Given the description of an element on the screen output the (x, y) to click on. 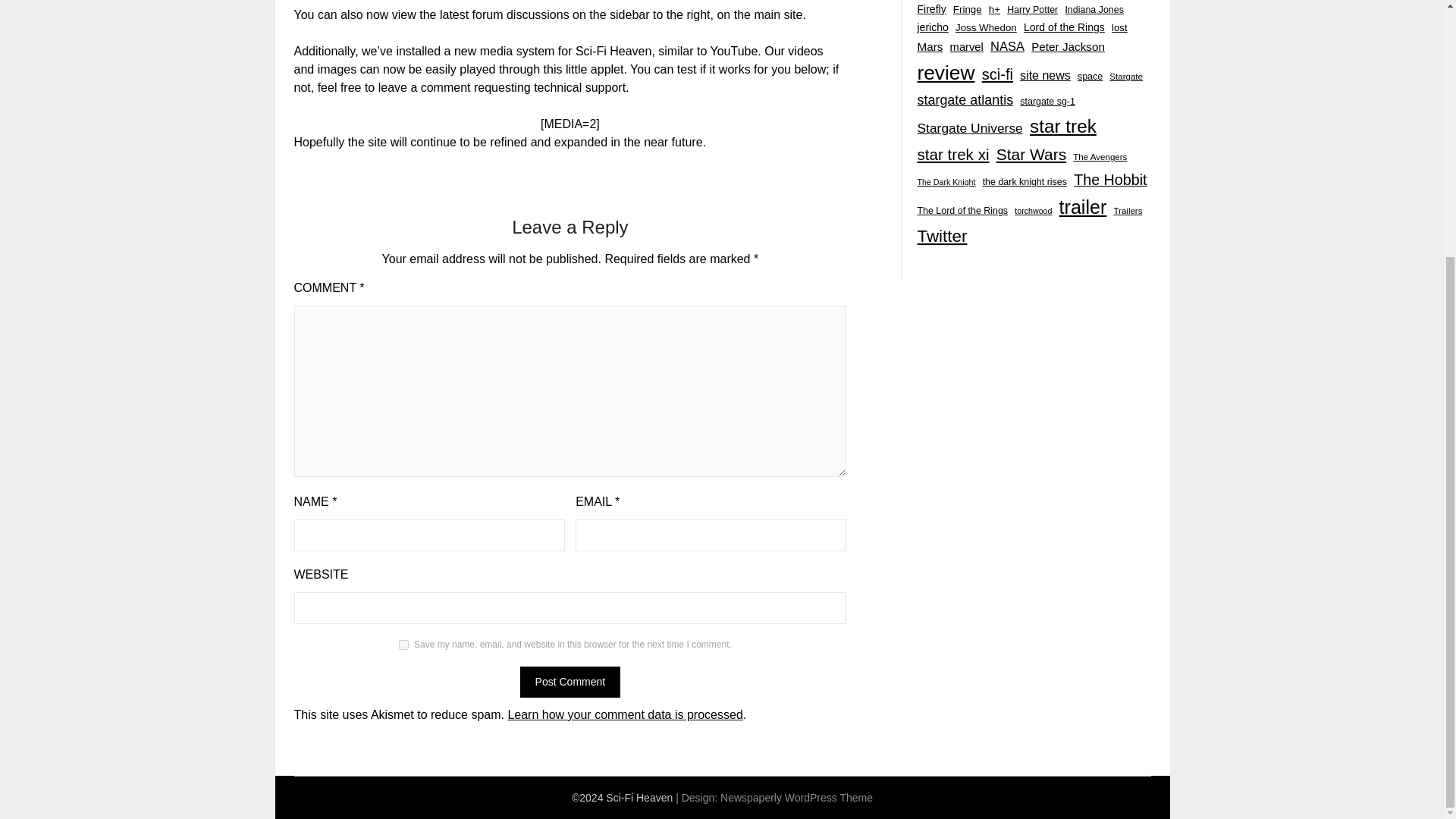
Fringe (967, 9)
Post Comment (570, 680)
yes (403, 644)
Joss Whedon (985, 27)
Lord of the Rings (1064, 27)
lost (1119, 27)
Post Comment (570, 680)
Firefly (930, 9)
Harry Potter (1032, 9)
Mars (929, 46)
NASA (1007, 46)
jericho (932, 27)
Learn how your comment data is processed (624, 714)
marvel (967, 46)
Indiana Jones (1093, 9)
